Given the description of an element on the screen output the (x, y) to click on. 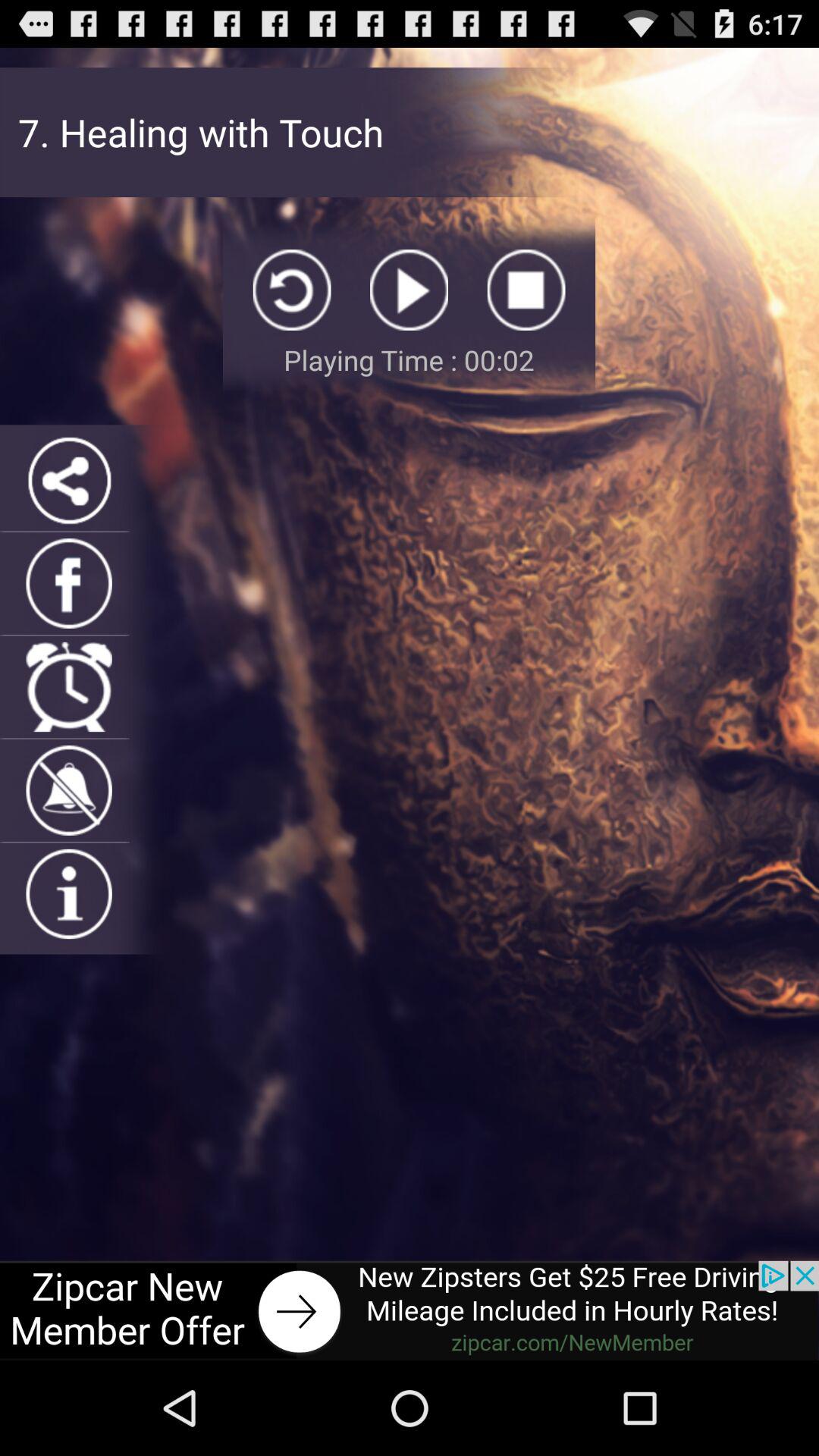
save the option of record (526, 289)
